Given the description of an element on the screen output the (x, y) to click on. 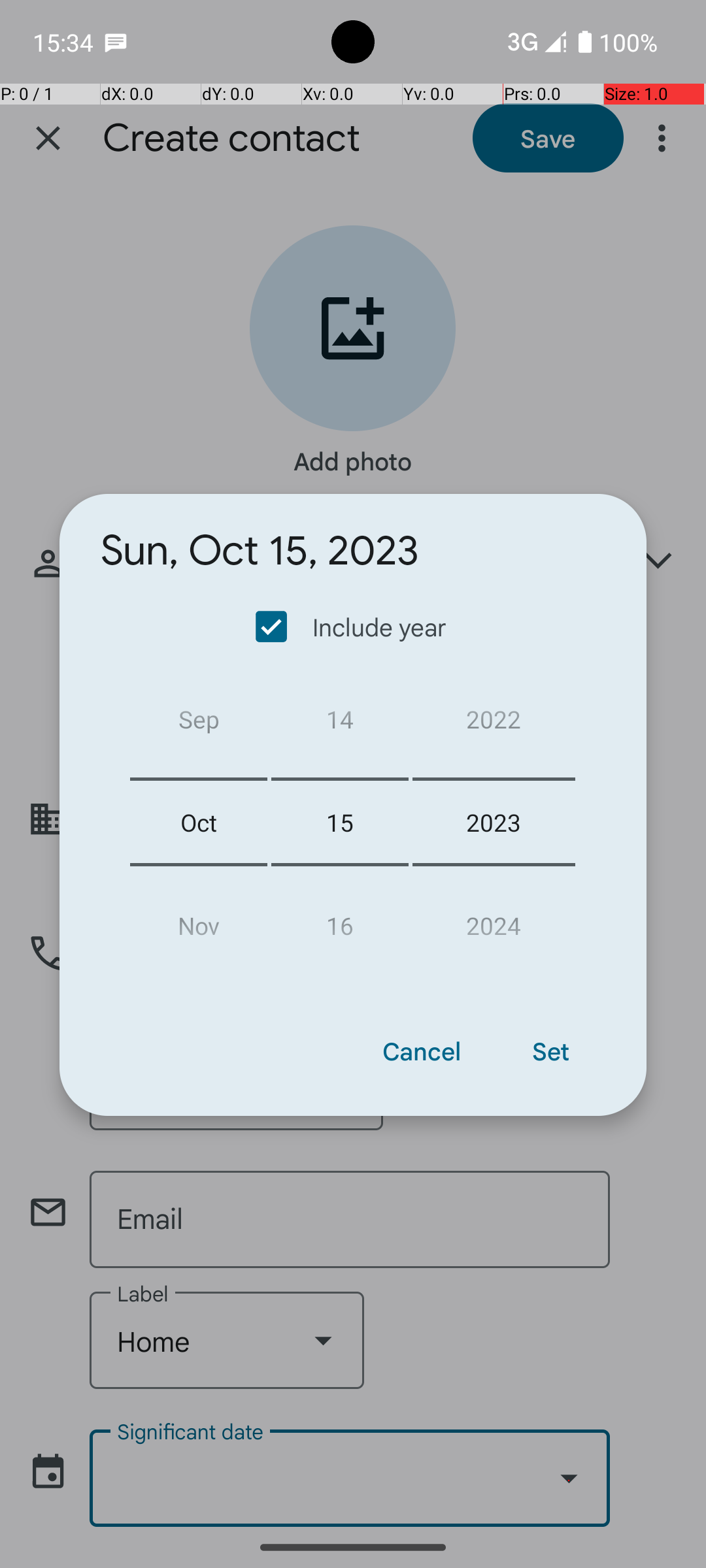
Sun, Oct 15, 2023 Element type: android.widget.TextView (259, 550)
Include year Element type: android.widget.CheckBox (351, 626)
Sep Element type: android.widget.Button (198, 723)
Oct Element type: android.widget.EditText (198, 821)
Nov Element type: android.widget.Button (198, 919)
2022 Element type: android.widget.Button (493, 723)
2024 Element type: android.widget.Button (493, 919)
Set Element type: android.widget.Button (550, 1050)
